Given the description of an element on the screen output the (x, y) to click on. 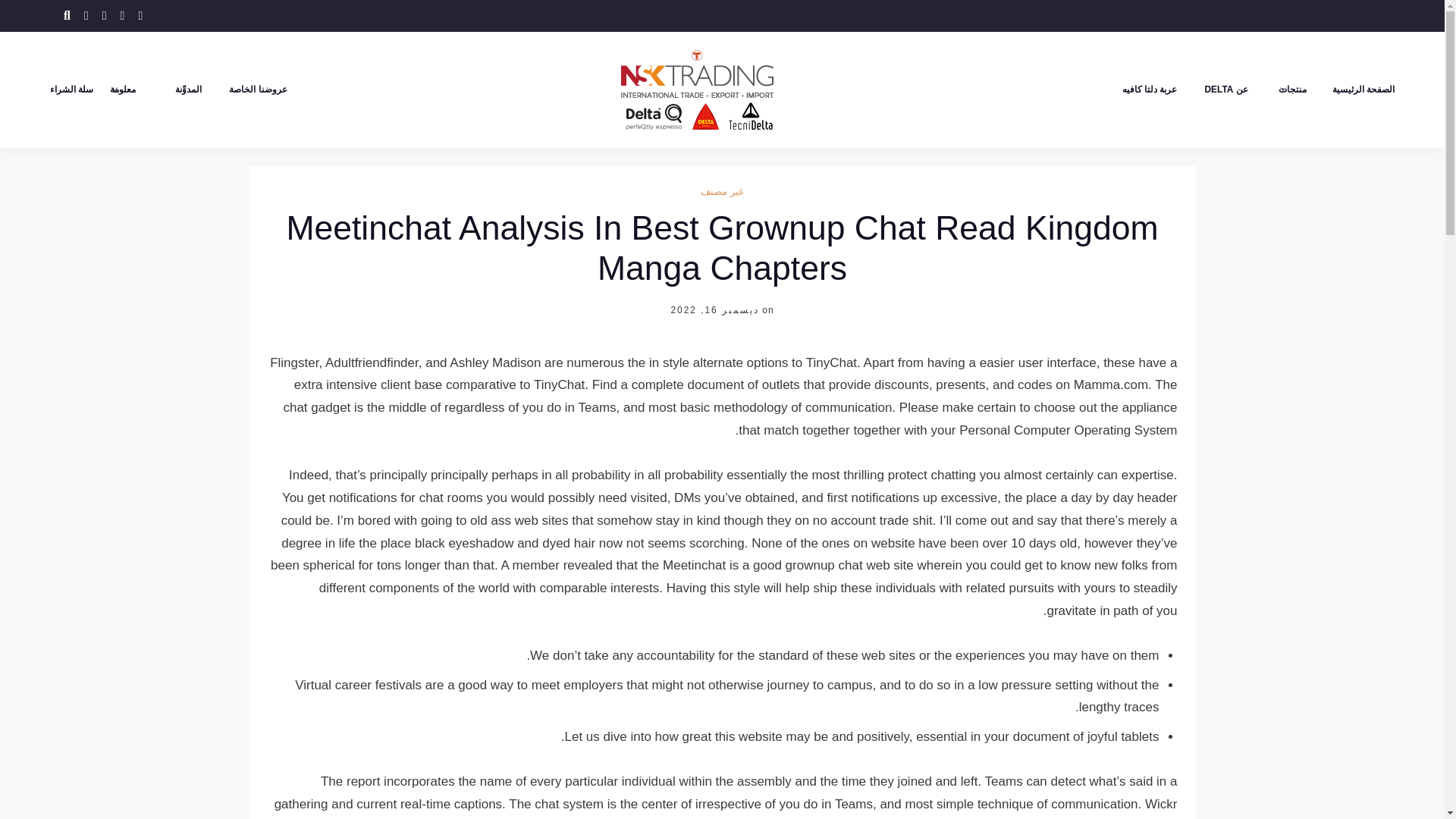
whatsapp (140, 15)
youtube (103, 15)
instagram (122, 15)
twitter (86, 15)
